Given the description of an element on the screen output the (x, y) to click on. 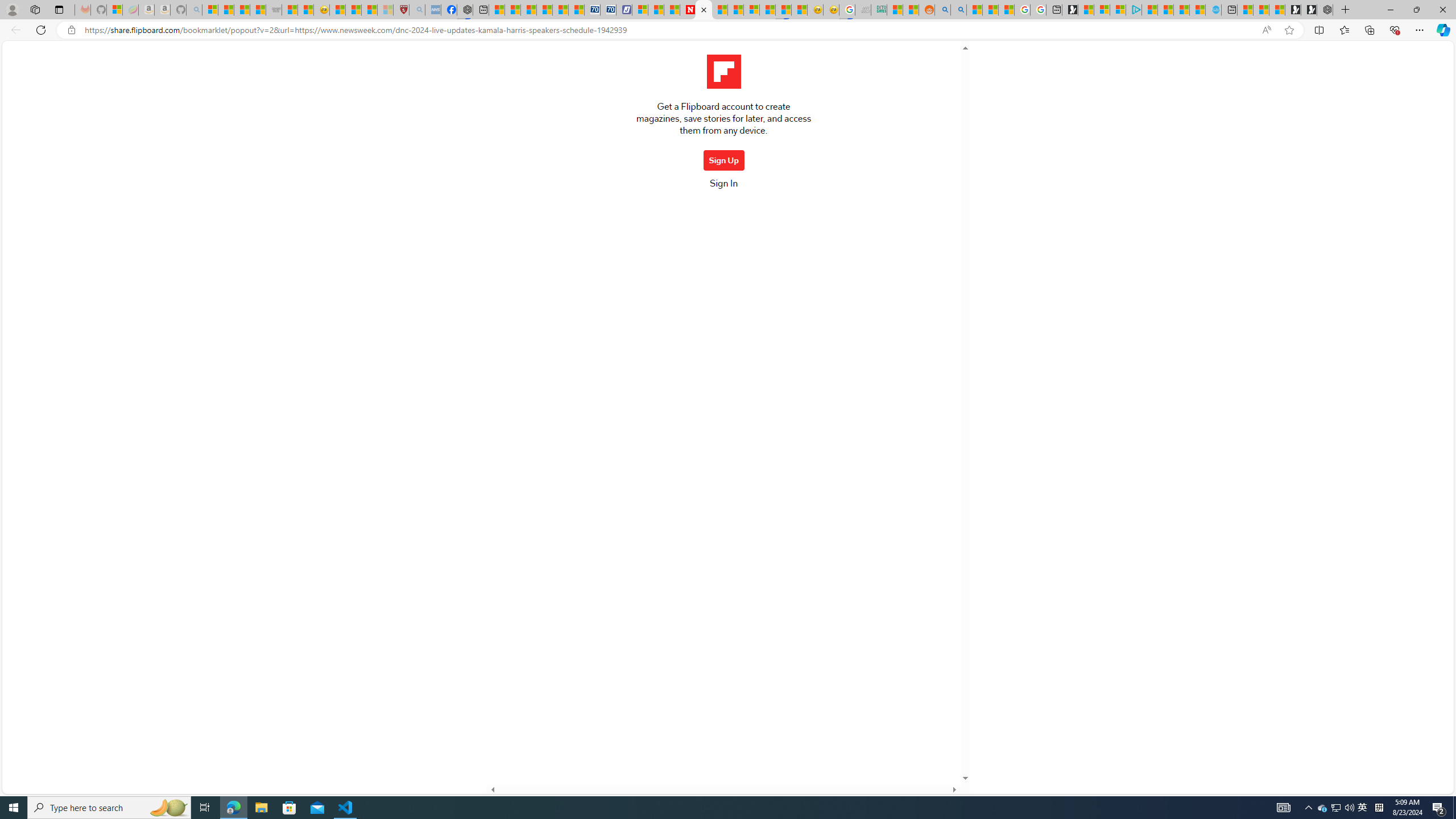
Stocks - MSN (257, 9)
MSNBC - MSN (894, 9)
Microsoft-Report a Concern to Bing (114, 9)
14 Common Myths Debunked By Scientific Facts (719, 9)
